Given the description of an element on the screen output the (x, y) to click on. 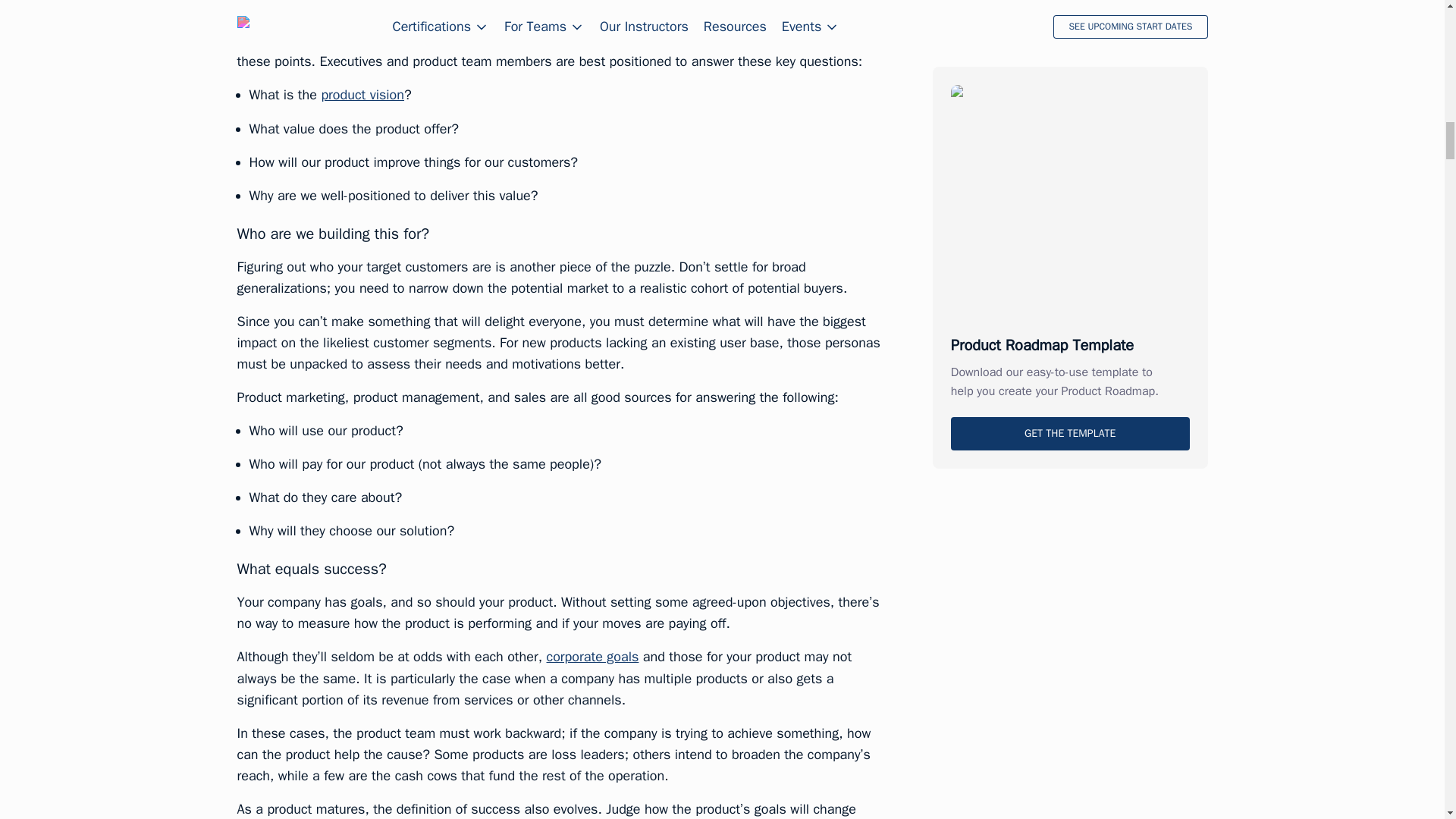
corporate goals (593, 656)
product vision (362, 94)
corporate goals (593, 656)
product vision (362, 94)
